Given the description of an element on the screen output the (x, y) to click on. 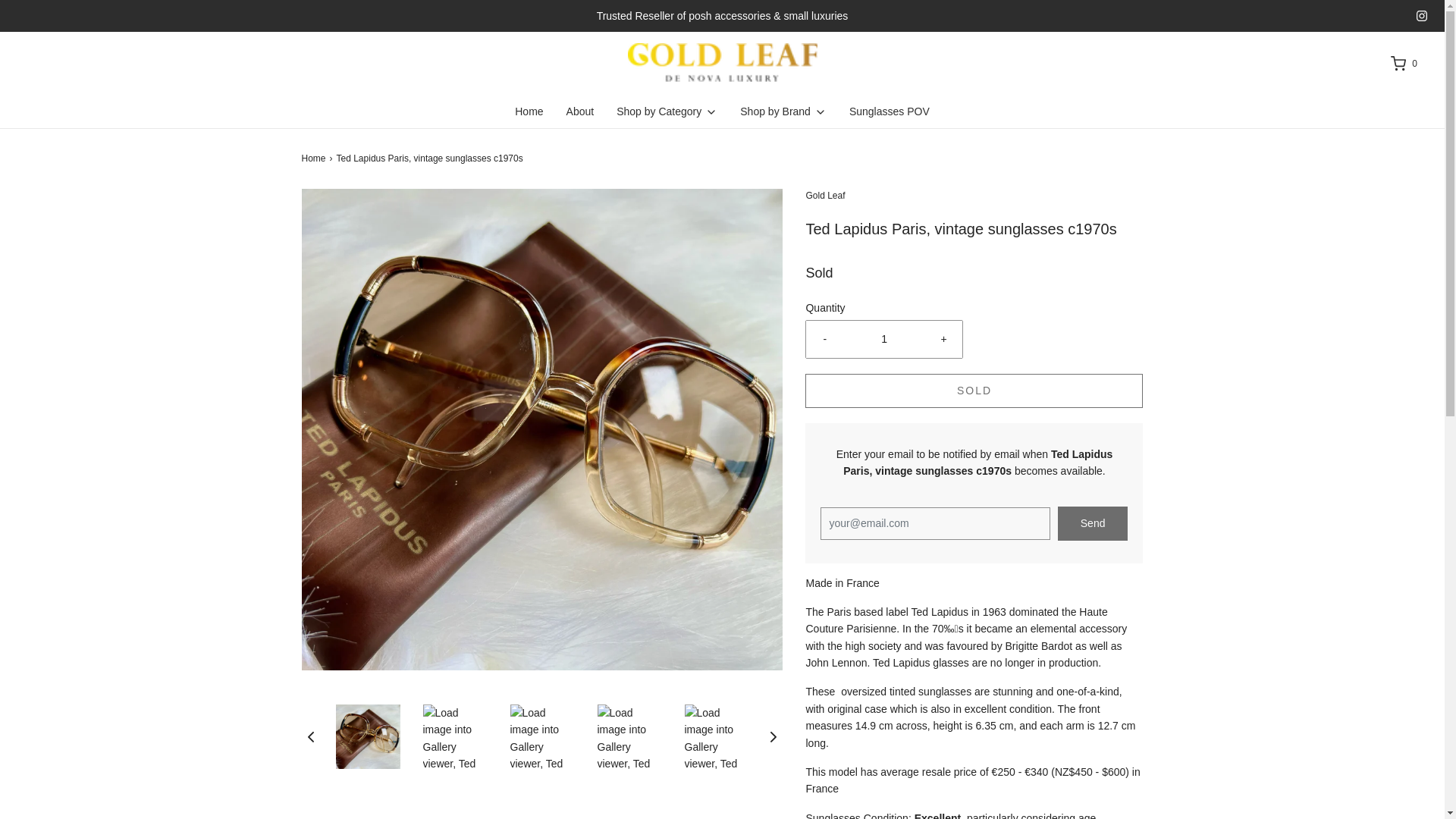
Instagram icon (1421, 15)
Shop by Brand (783, 111)
Back to the frontpage (315, 158)
Cart (1403, 63)
Send (1093, 523)
1 (884, 339)
Instagram icon (1421, 15)
0 (1403, 63)
Shop by Category (666, 111)
